Given the description of an element on the screen output the (x, y) to click on. 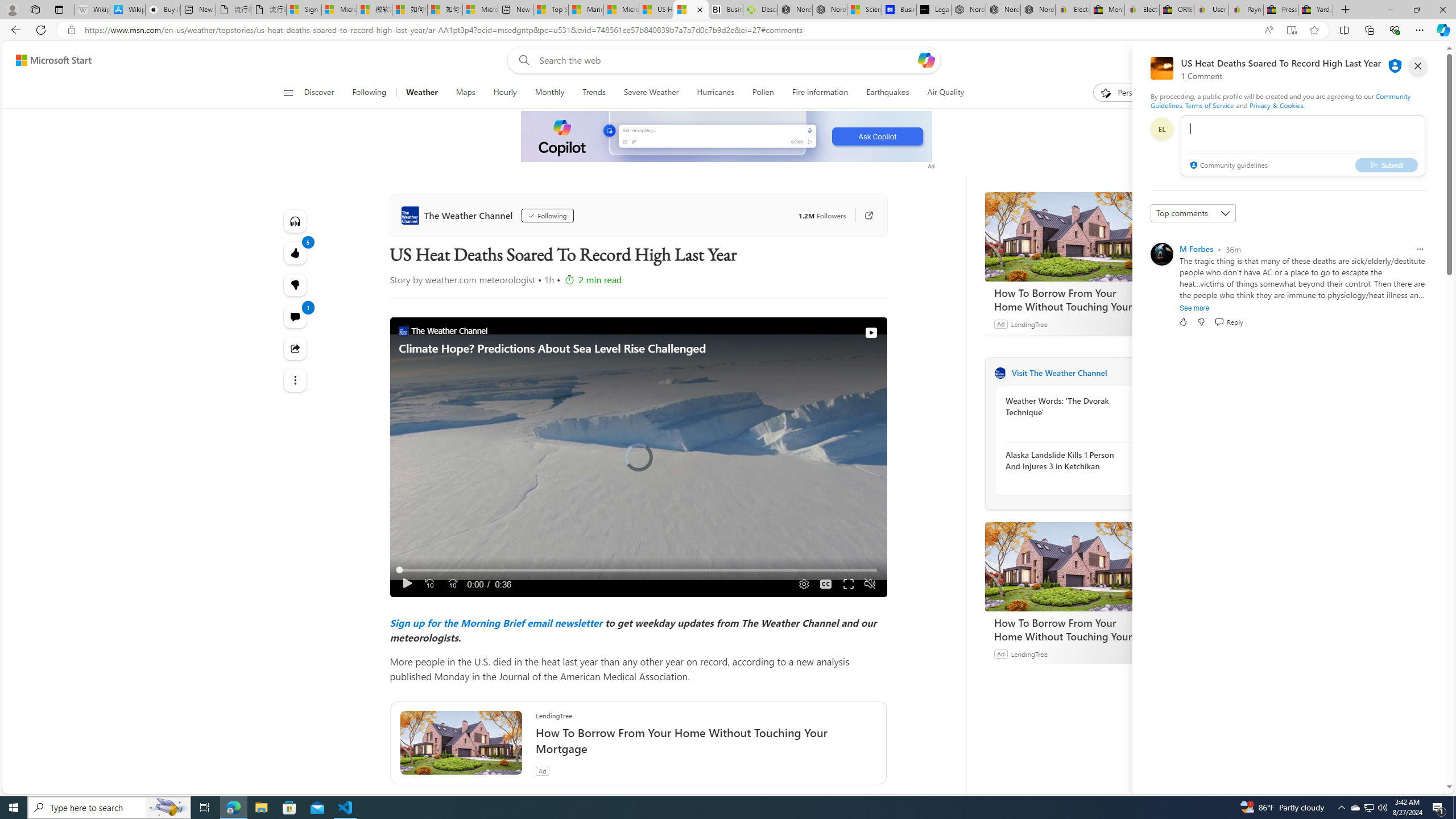
Nordace - Summer Adventures 2024 (794, 9)
Community Guidelines (1280, 100)
Discover (319, 92)
Tab actions menu (58, 9)
Community guidelines (1228, 165)
Enter your search term (726, 59)
Air Quality (940, 92)
Dislike (1200, 321)
Buy iPad - Apple (161, 9)
The Weather Channel (458, 215)
Visit The Weather Channel website (1140, 372)
See more (1194, 308)
Play (406, 583)
App bar (728, 29)
